Given the description of an element on the screen output the (x, y) to click on. 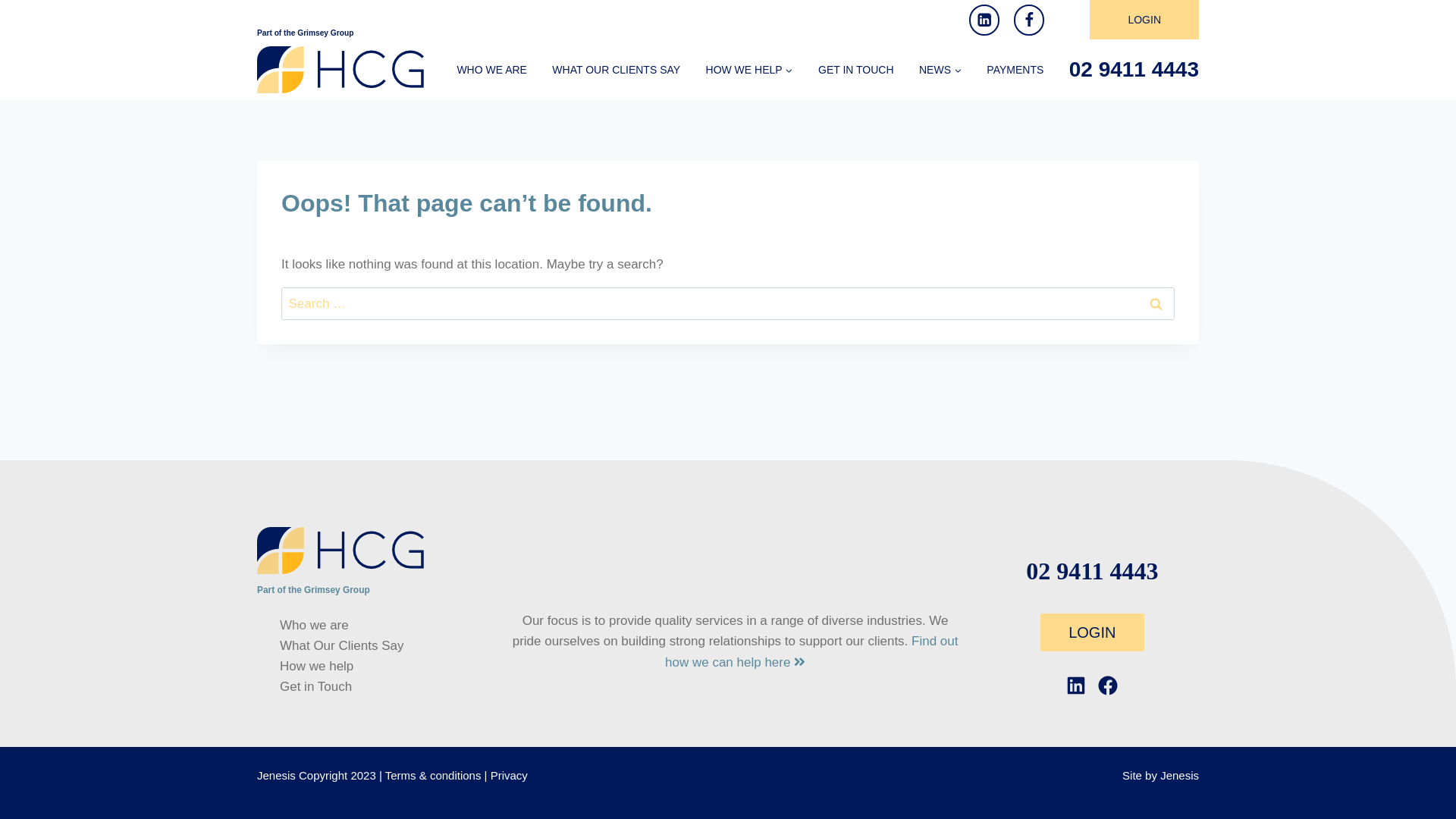
Who we are Element type: text (382, 625)
NEWS Element type: text (940, 69)
02 9411 4443 Element type: text (1133, 69)
HOW WE HELP Element type: text (749, 69)
Search Element type: text (1155, 303)
PAYMENTS Element type: text (1015, 69)
Privacy Element type: text (508, 774)
GET IN TOUCH Element type: text (856, 69)
Terms & conditions Element type: text (433, 774)
Part of the Grimsey Group Element type: text (313, 589)
Part of the Grimsey Group Element type: text (305, 33)
LOGIN Element type: text (1091, 632)
02 9411 4443 Element type: text (1091, 570)
WHAT OUR CLIENTS SAY Element type: text (616, 69)
Get in Touch Element type: text (382, 687)
Find out how we can help here Element type: text (811, 650)
What Our Clients Say Element type: text (382, 645)
LOGIN Element type: text (1143, 19)
WHO WE ARE Element type: text (491, 69)
How we help Element type: text (382, 666)
